Given the description of an element on the screen output the (x, y) to click on. 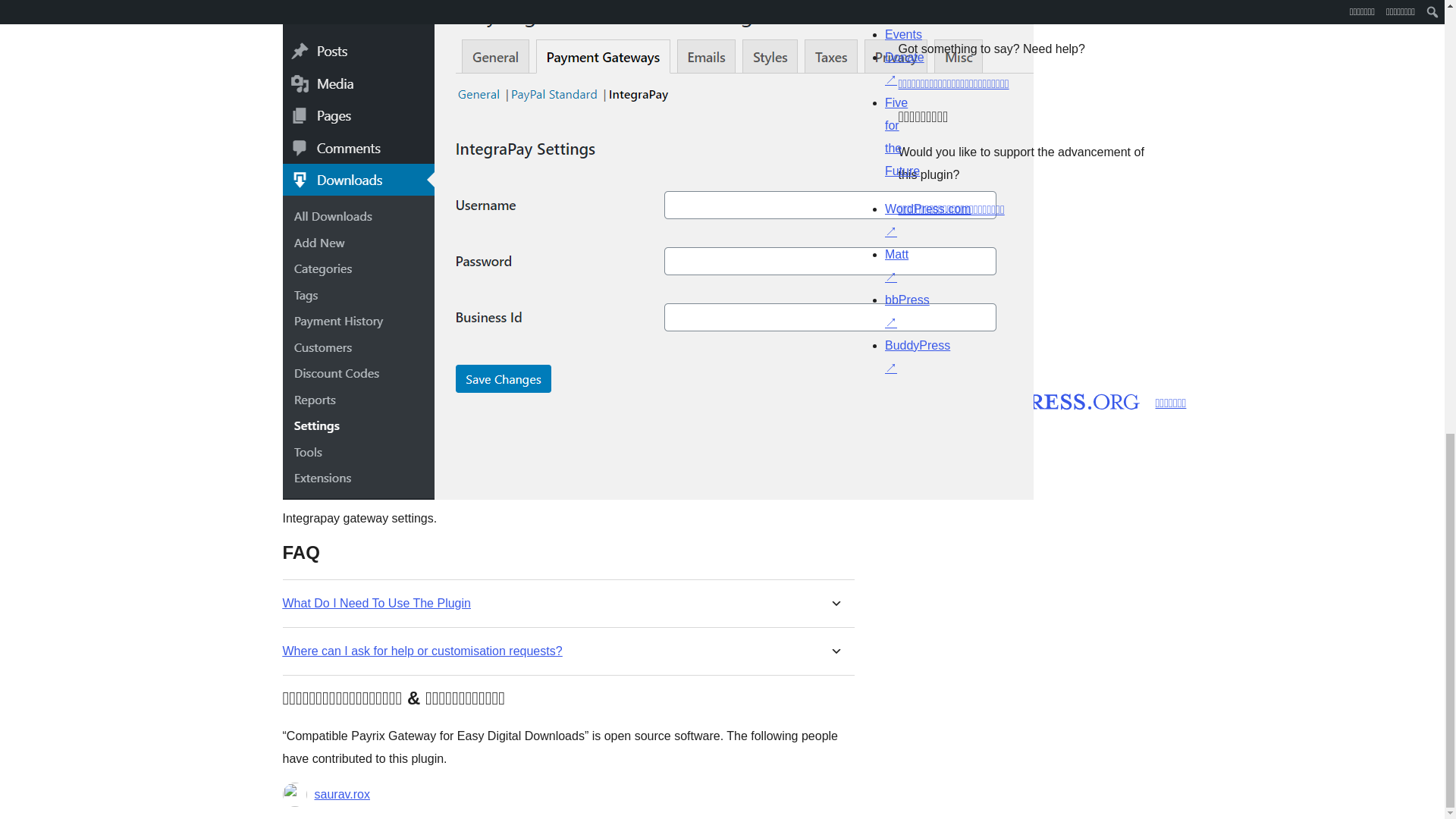
WordPress.org (1014, 399)
Where can I ask for help or customisation requests? (422, 650)
saurav.rox (341, 793)
WordPress.org (864, 399)
What Do I Need To Use The Plugin (376, 603)
